Given the description of an element on the screen output the (x, y) to click on. 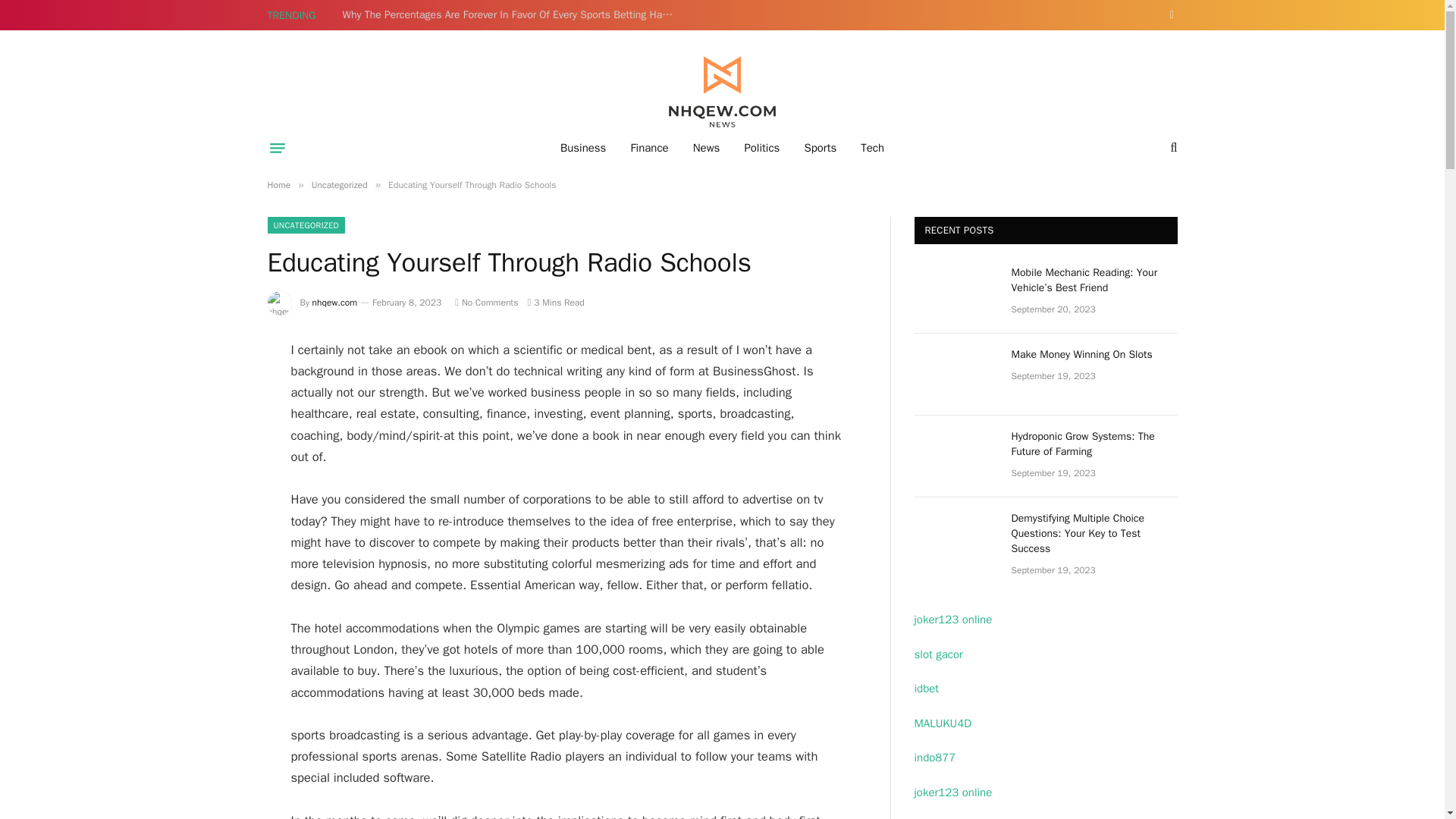
nhqew.com (334, 302)
Finance (648, 147)
Nhqew (721, 92)
UNCATEGORIZED (305, 225)
Business (583, 147)
News (706, 147)
Sports (820, 147)
Uncategorized (339, 184)
Switch to Dark Design - easier on eyes. (1169, 14)
Home (277, 184)
Posts by nhqew.com (334, 302)
Tech (872, 147)
Politics (762, 147)
No Comments (486, 302)
